Given the description of an element on the screen output the (x, y) to click on. 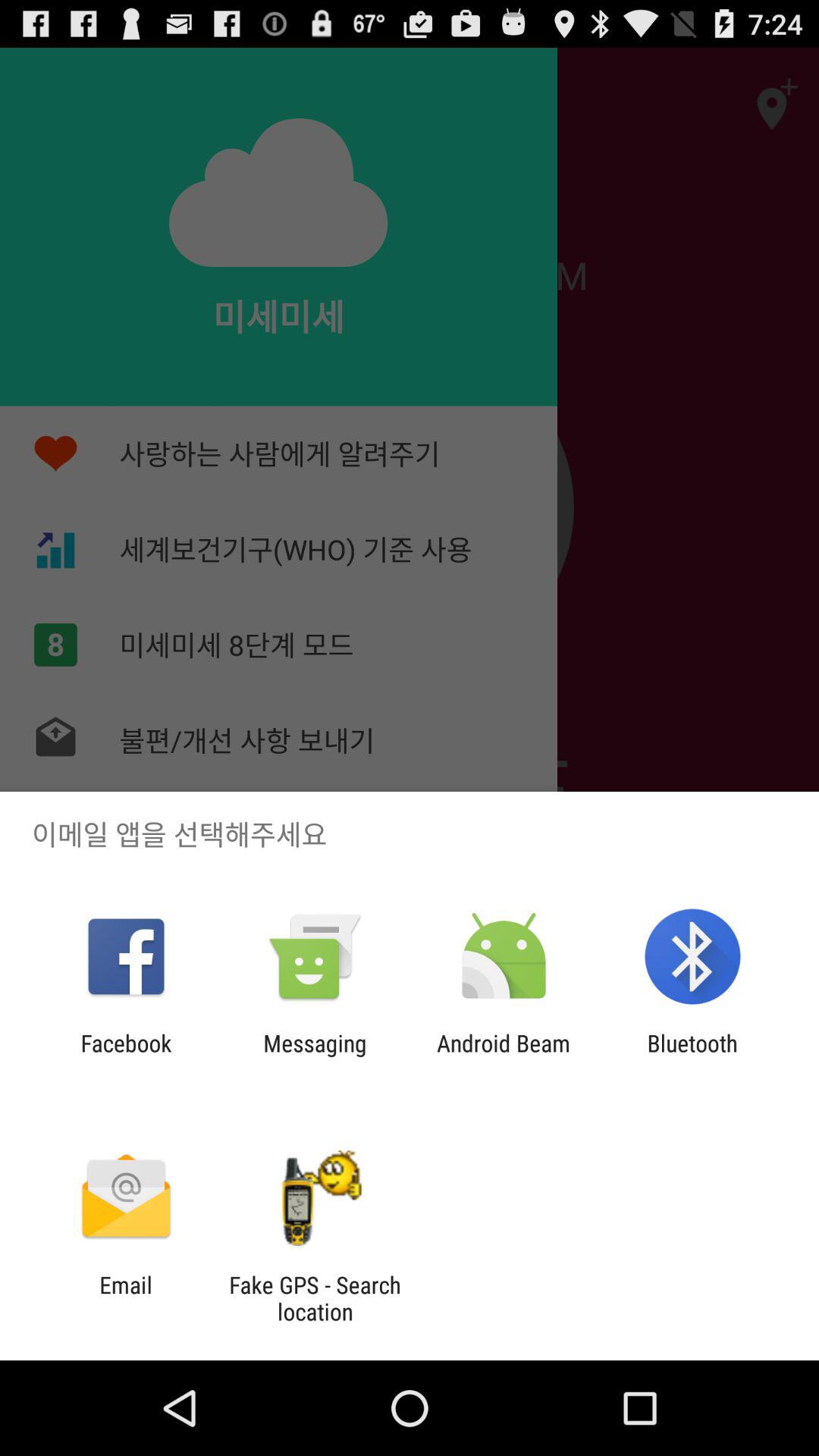
open icon to the right of the android beam item (692, 1056)
